Given the description of an element on the screen output the (x, y) to click on. 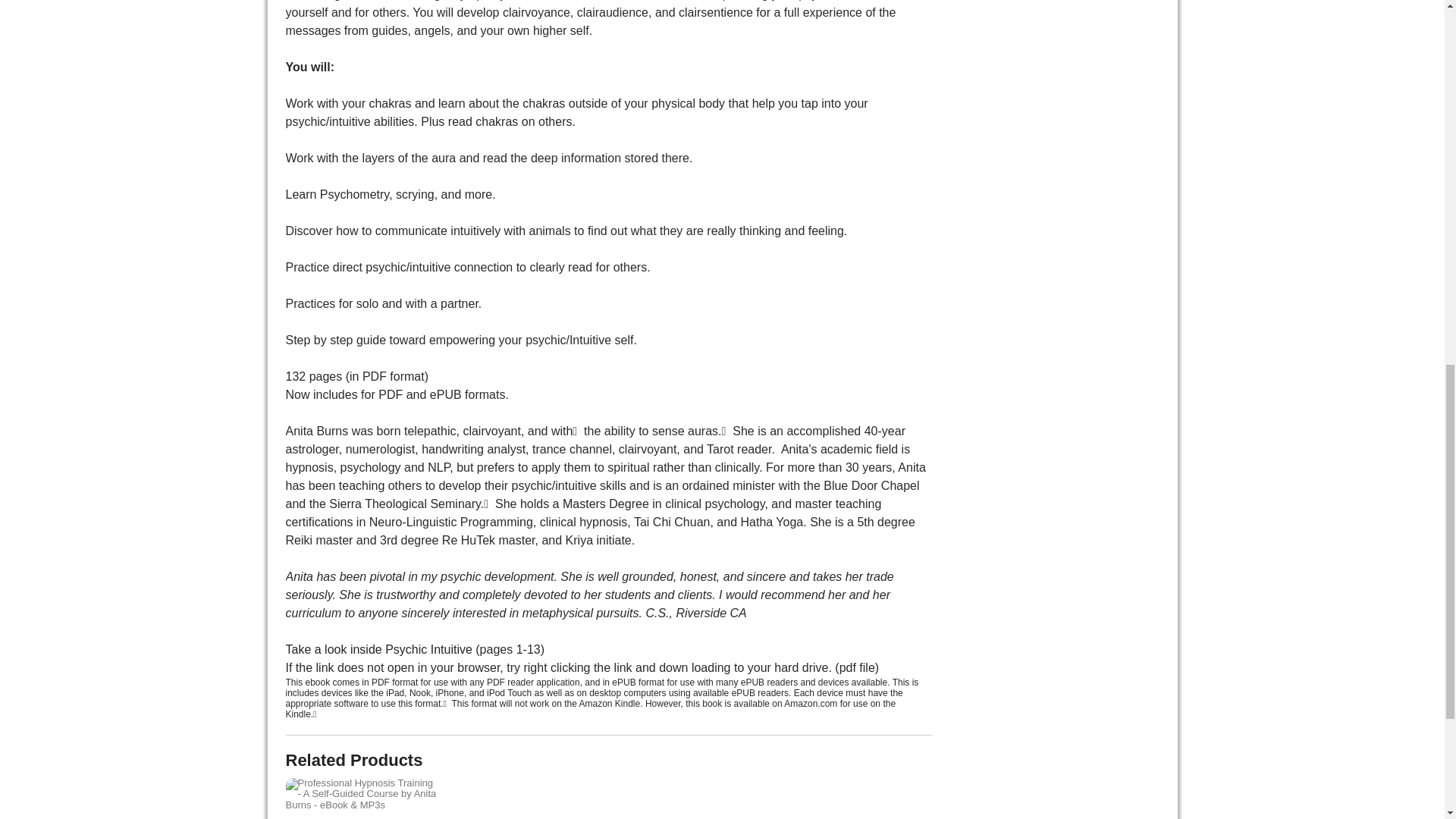
Take a look inside Psychic Intuitive (378, 649)
